Given the description of an element on the screen output the (x, y) to click on. 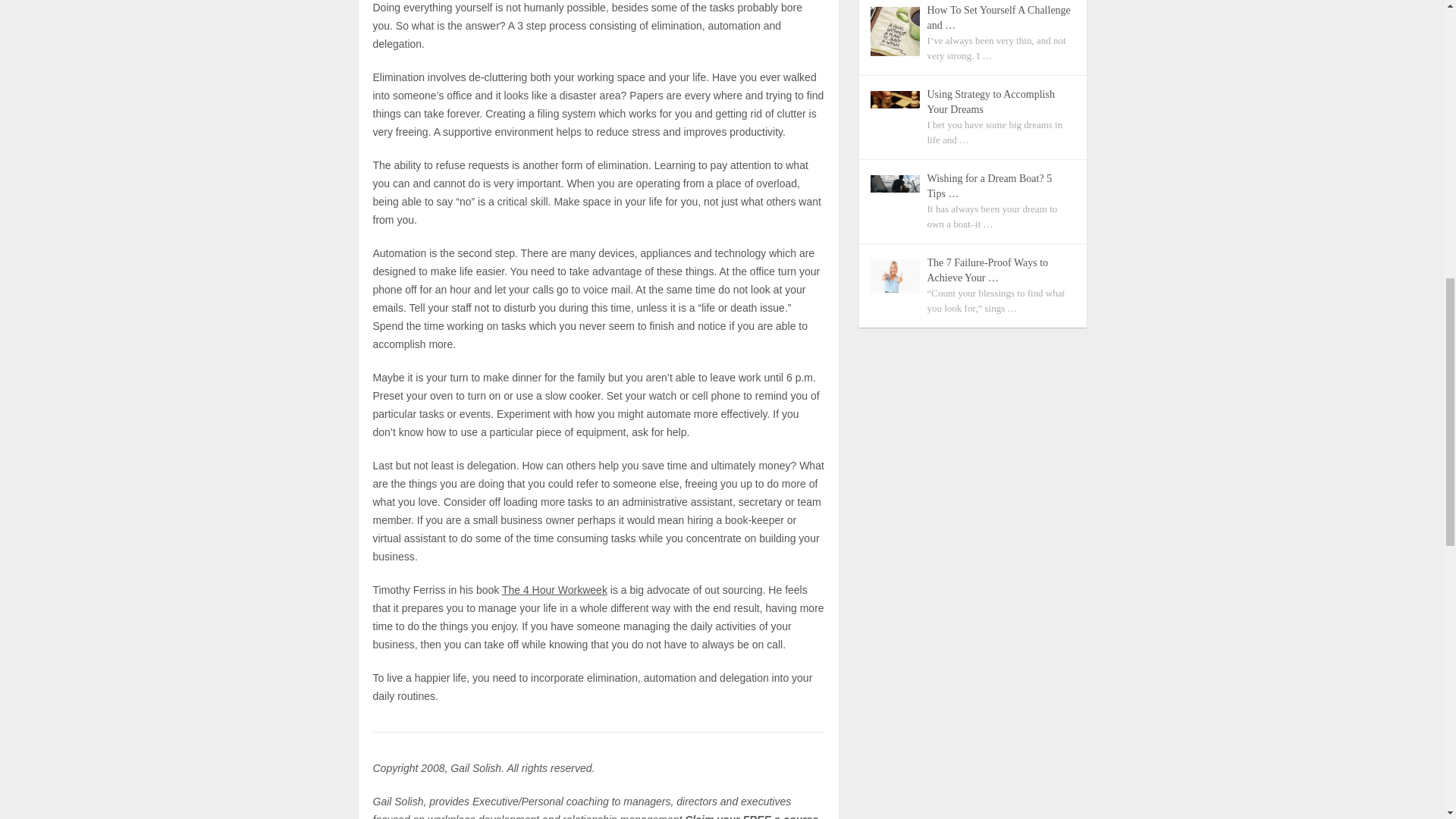
Using Strategy to Accomplish Your Dreams (1000, 101)
